Given the description of an element on the screen output the (x, y) to click on. 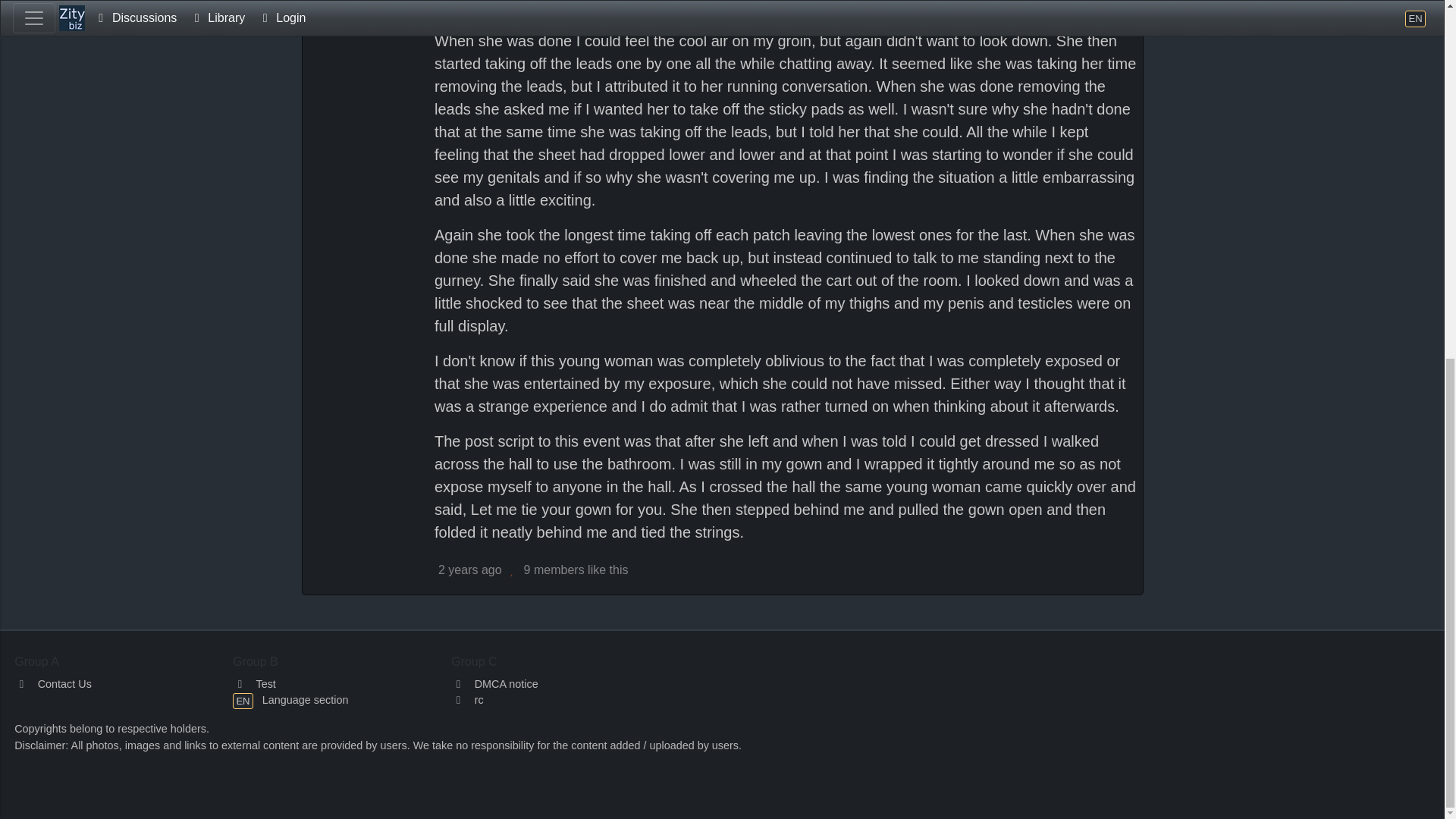
EN   Language section (289, 699)
  rc (467, 699)
  Test (254, 684)
  DMCA notice (494, 684)
  Contact Us (52, 684)
